Given the description of an element on the screen output the (x, y) to click on. 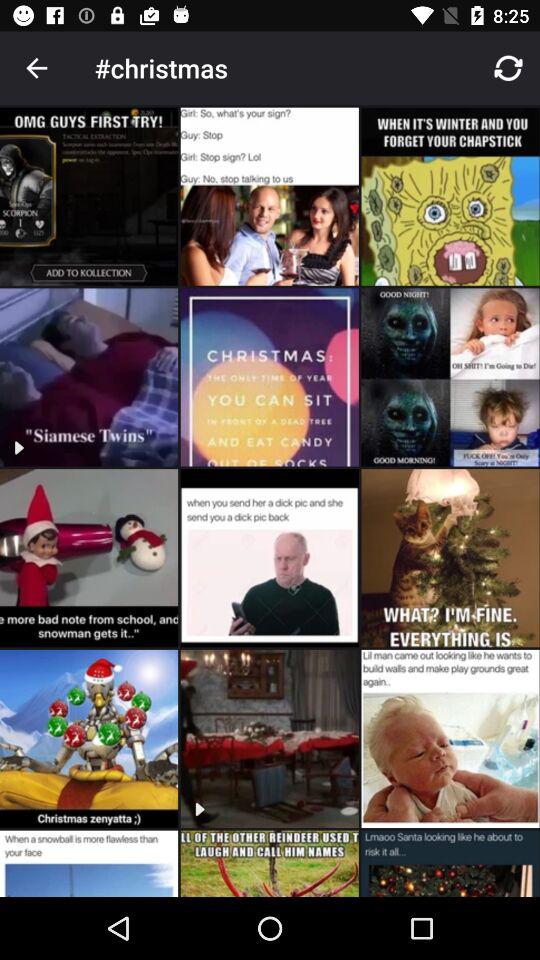
choose icon next to #christmas icon (36, 68)
